Given the description of an element on the screen output the (x, y) to click on. 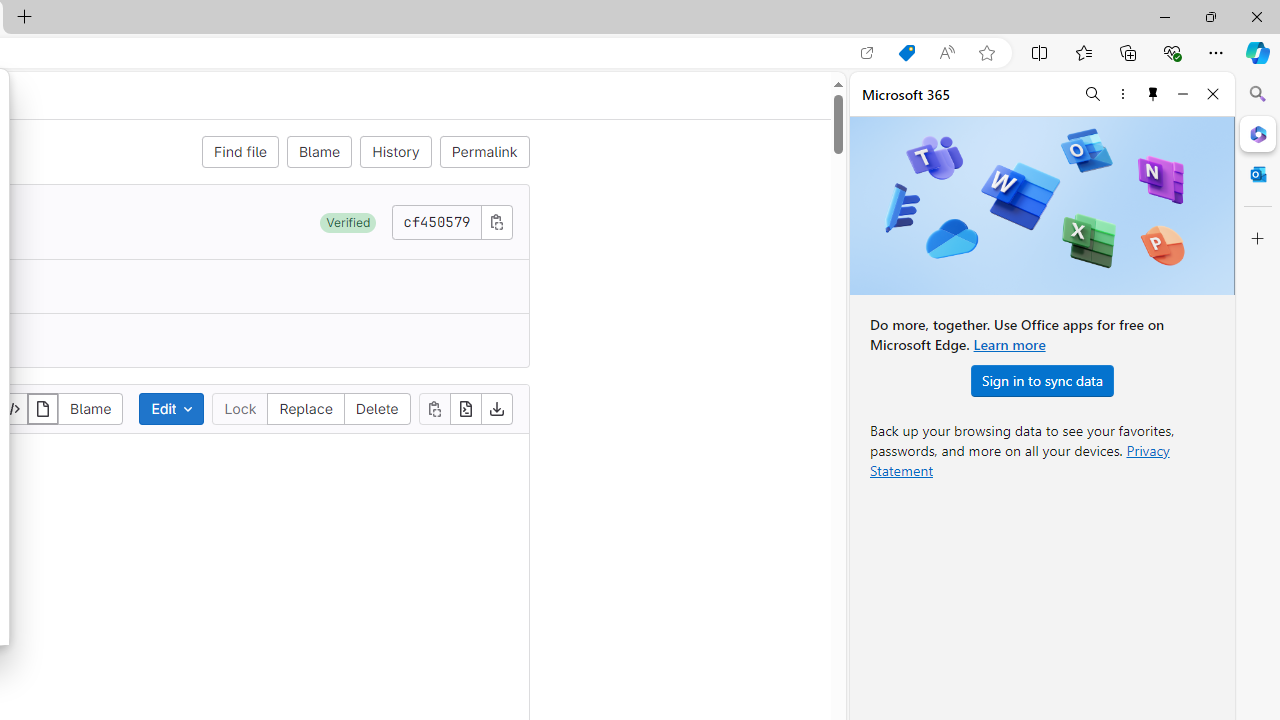
Open raw (465, 408)
Privacy Statement (1019, 460)
Permalink (484, 151)
Unpin side pane (1153, 93)
Lock (240, 408)
Delete (376, 408)
Class: s16 gl-icon gl-button-icon  (496, 221)
